Given the description of an element on the screen output the (x, y) to click on. 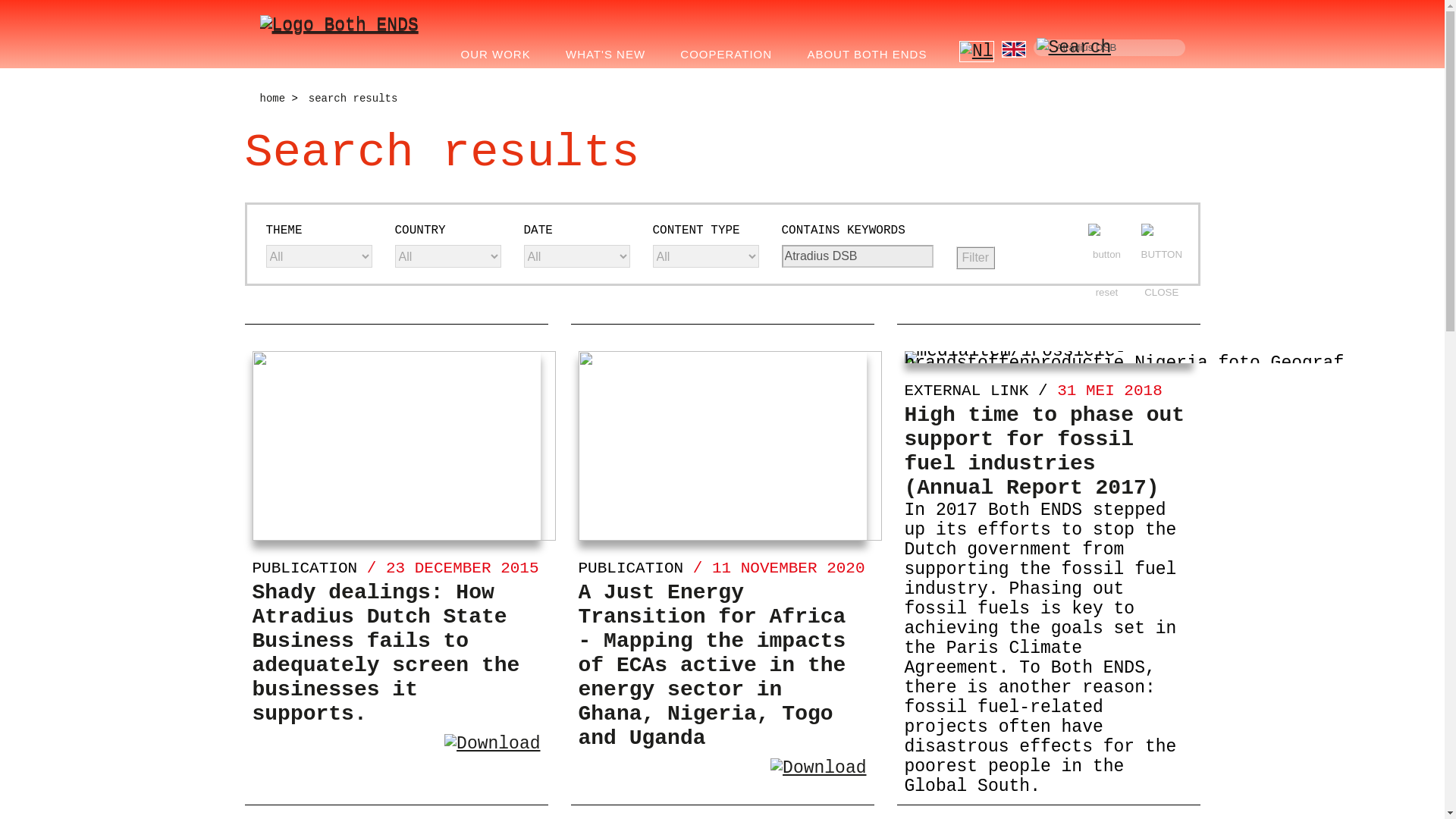
home (272, 98)
Atradius DSB (1108, 47)
Atradius DSB (856, 255)
WHAT'S NEW (611, 53)
search results (352, 98)
OUR WORK (500, 53)
What do we do? (500, 53)
ABOUT BOTH ENDS (871, 53)
Filter (974, 257)
COOPERATION (731, 53)
